Given the description of an element on the screen output the (x, y) to click on. 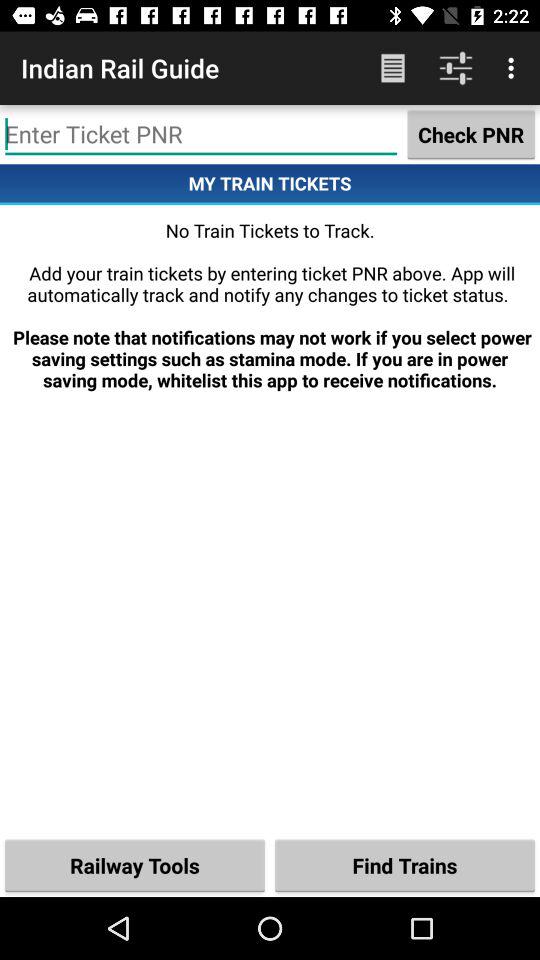
click item to the left of the find trains icon (135, 864)
